Given the description of an element on the screen output the (x, y) to click on. 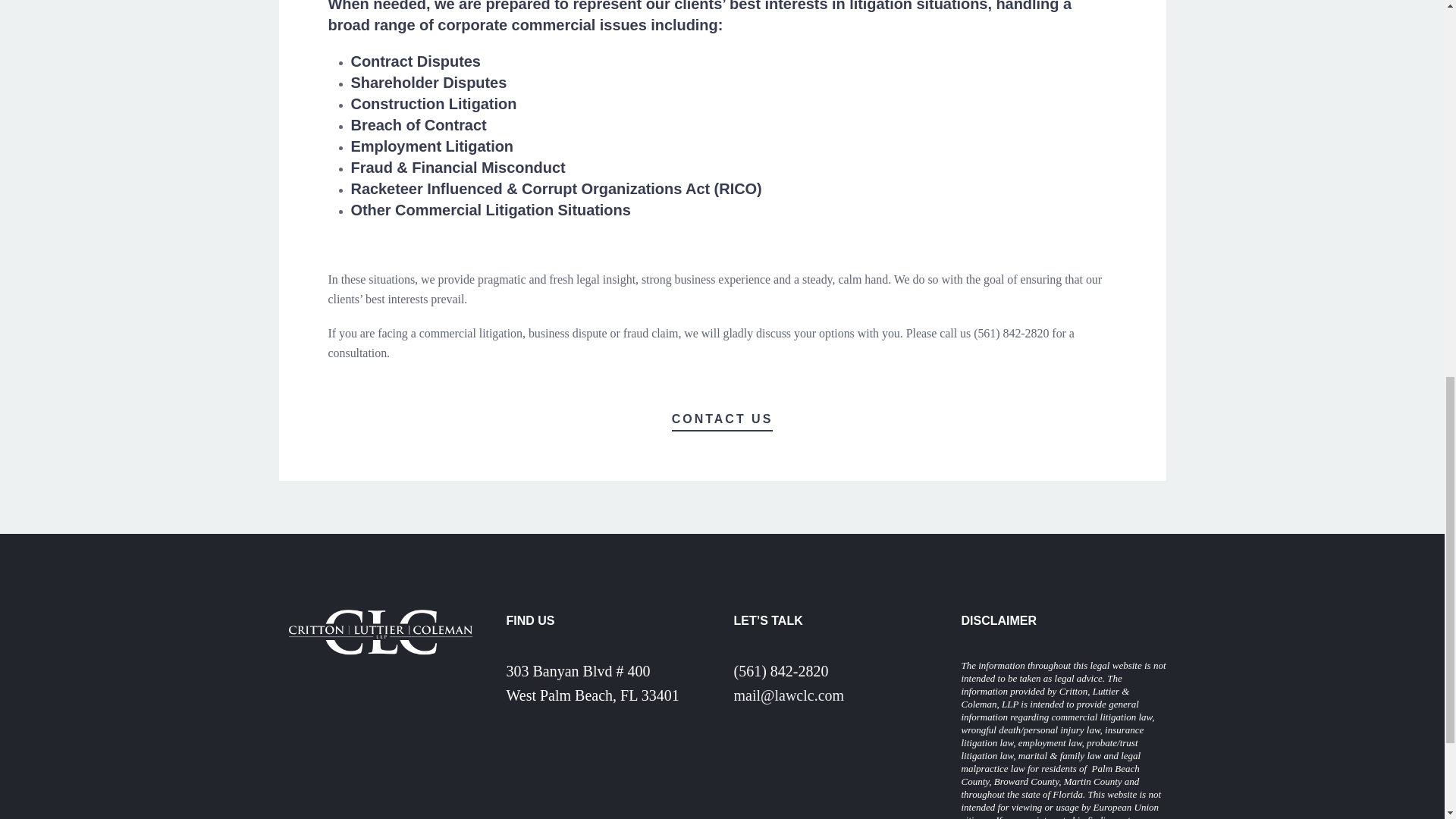
CONTACT US (722, 420)
